Given the description of an element on the screen output the (x, y) to click on. 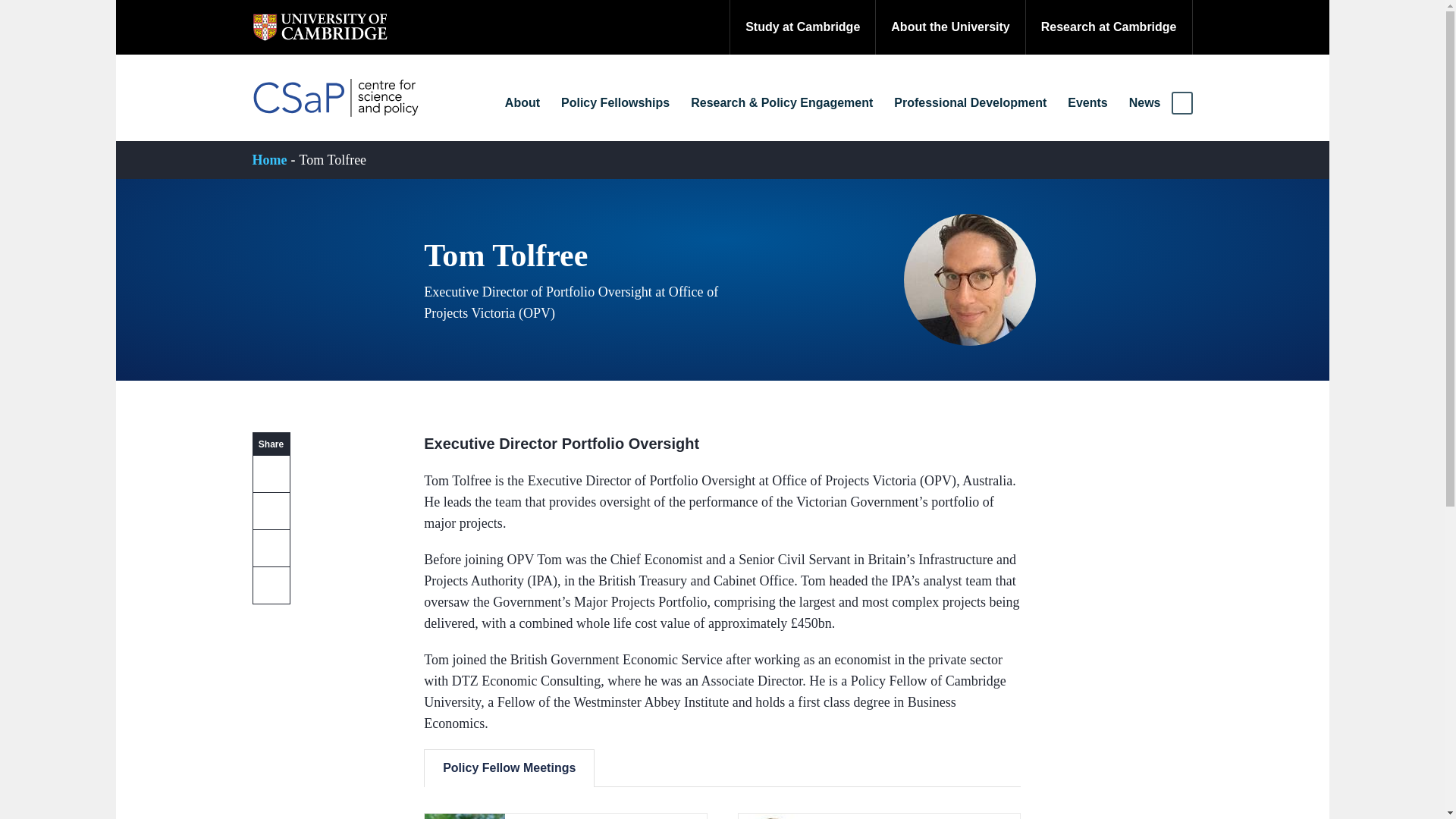
About the University (950, 27)
About (522, 102)
Policy Fellowships (614, 102)
Research at Cambridge (1108, 27)
Study at Cambridge (802, 27)
Professional Development (970, 102)
Events (1086, 102)
